Given the description of an element on the screen output the (x, y) to click on. 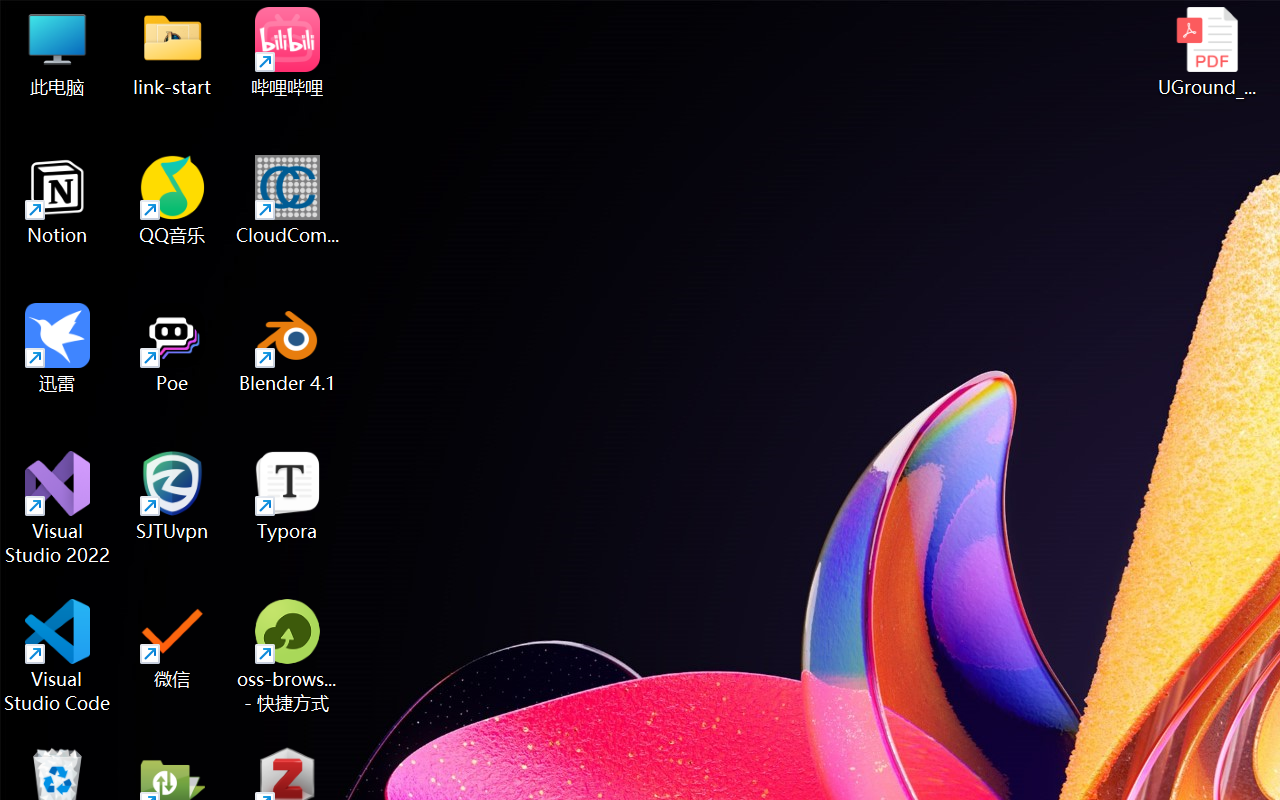
Visual Studio 2022 (57, 508)
Poe (172, 348)
CloudCompare (287, 200)
SJTUvpn (172, 496)
Typora (287, 496)
Blender 4.1 (287, 348)
Visual Studio Code (57, 656)
UGround_paper.pdf (1206, 52)
Notion (57, 200)
